Given the description of an element on the screen output the (x, y) to click on. 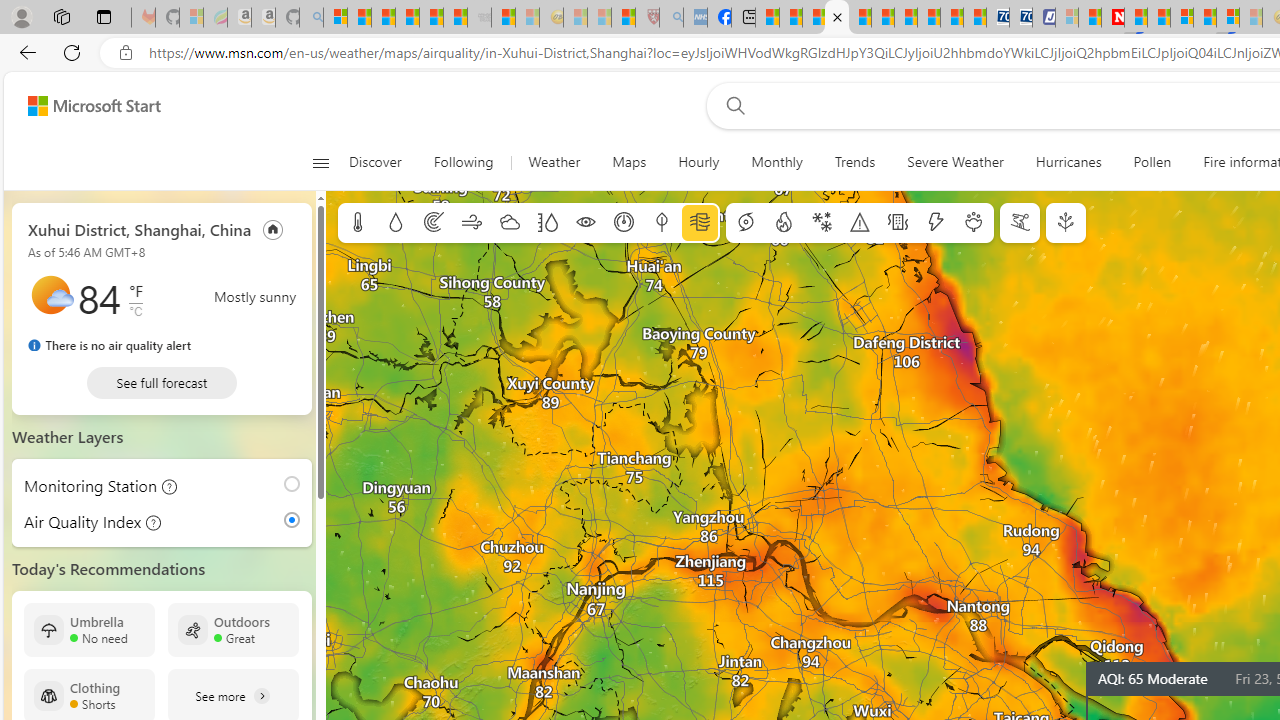
Open navigation menu (320, 162)
Severe weather (860, 223)
Clouds (509, 223)
Ski conditions (1020, 223)
The Weather Channel - MSN (383, 17)
Visibility (586, 223)
See full forecast (161, 382)
Microsoft account | Privacy - Sleeping (1066, 17)
Following (463, 162)
Monthly (776, 162)
Discover (383, 162)
Cheap Hotels - Save70.com (1020, 17)
